Given the description of an element on the screen output the (x, y) to click on. 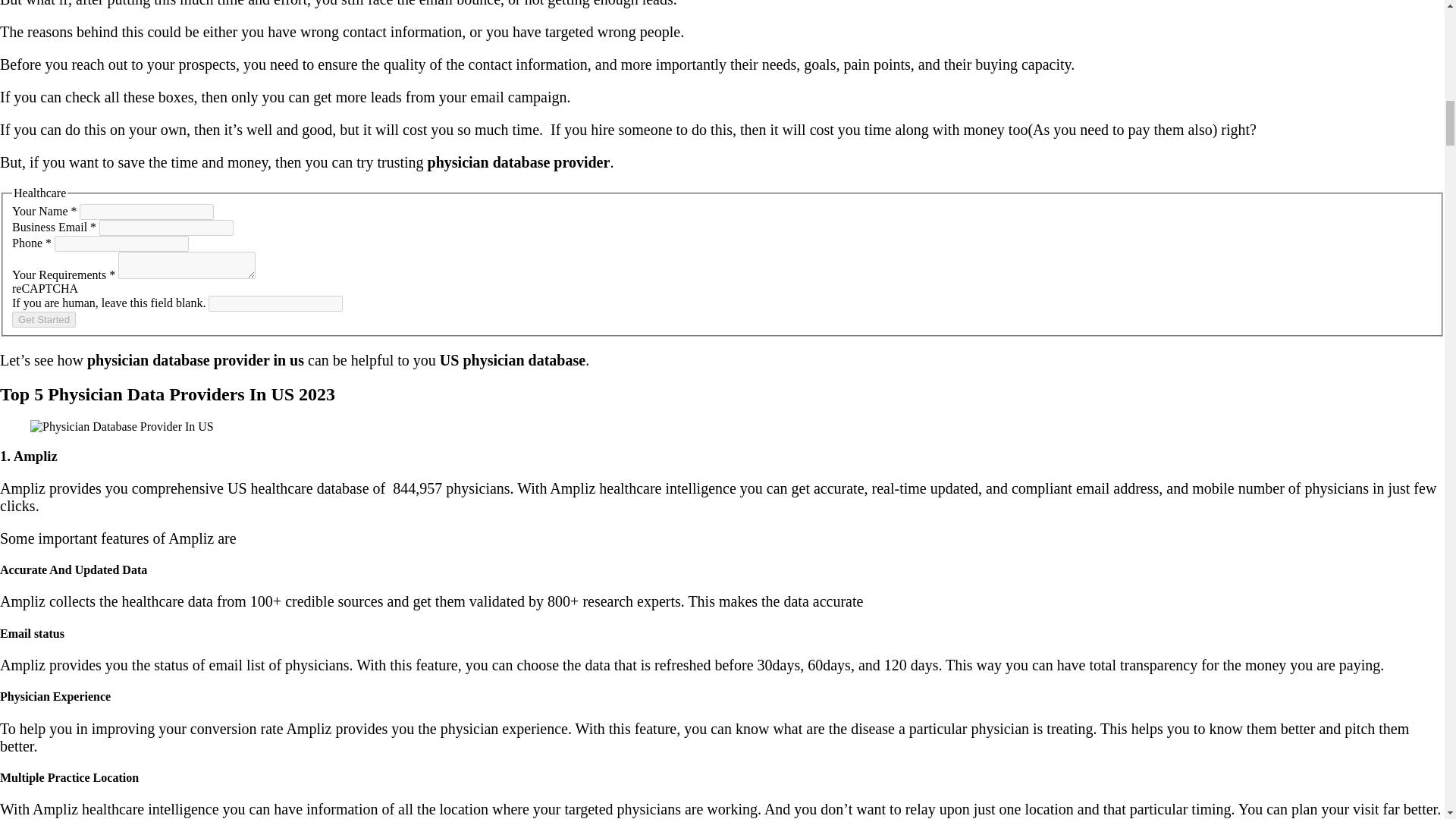
Physician Database Provider In US (122, 427)
